Given the description of an element on the screen output the (x, y) to click on. 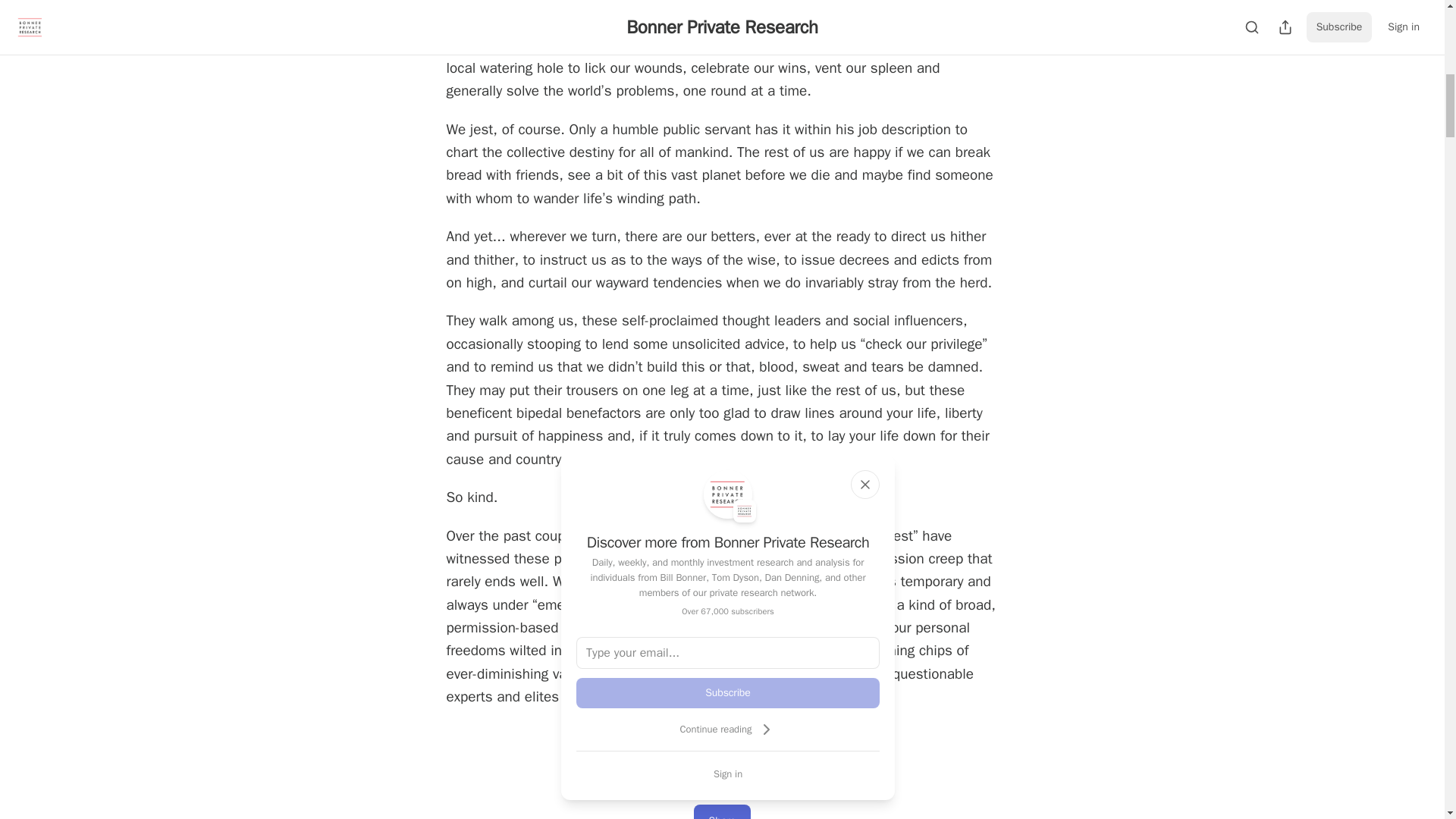
Share (722, 811)
Subscribe (727, 693)
Sign in (727, 773)
